Given the description of an element on the screen output the (x, y) to click on. 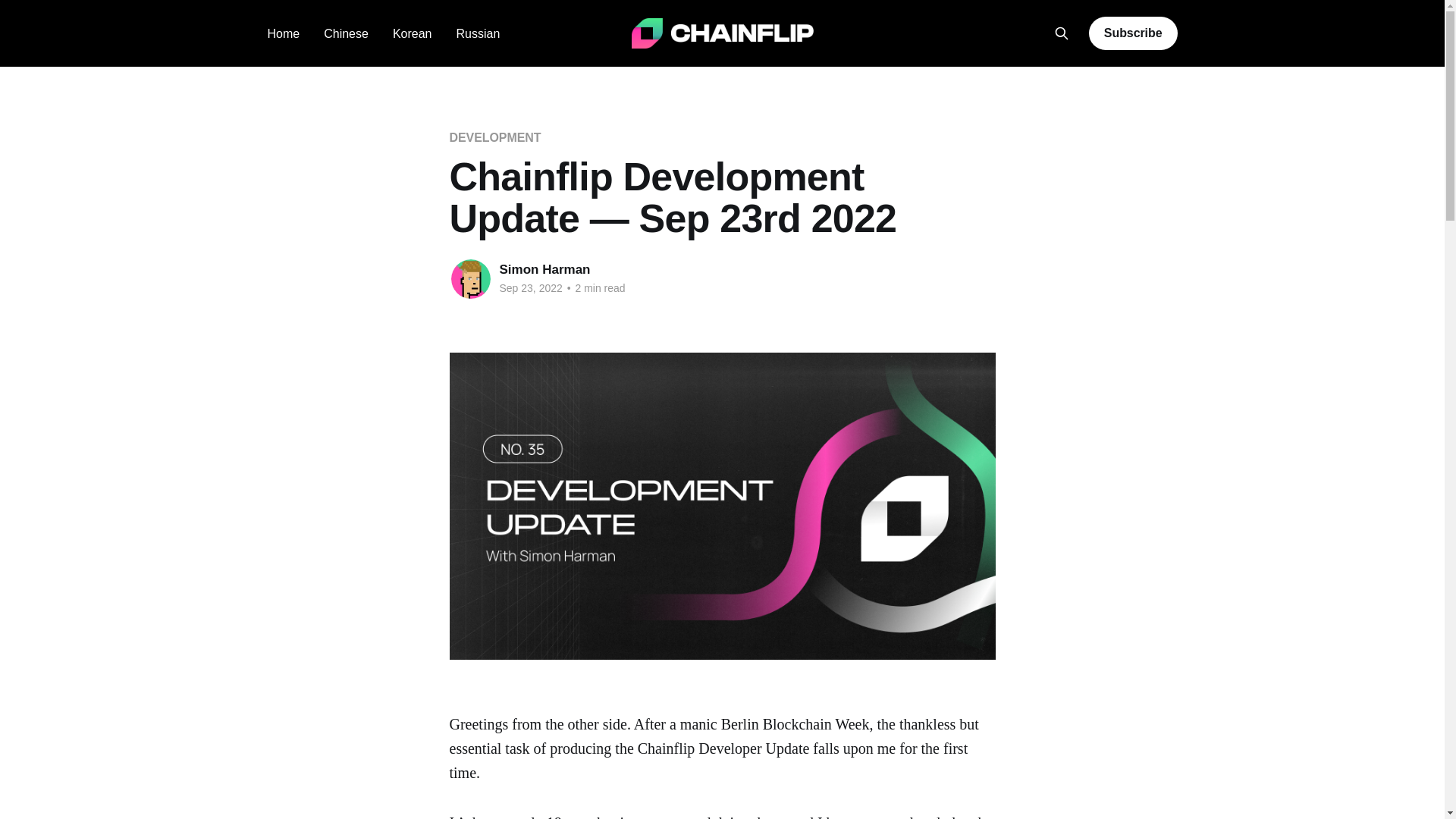
Korean (412, 33)
Simon Harman (544, 269)
DEVELOPMENT (494, 137)
Subscribe (1133, 32)
Chinese (345, 33)
Russian (477, 33)
Home (282, 33)
